Given the description of an element on the screen output the (x, y) to click on. 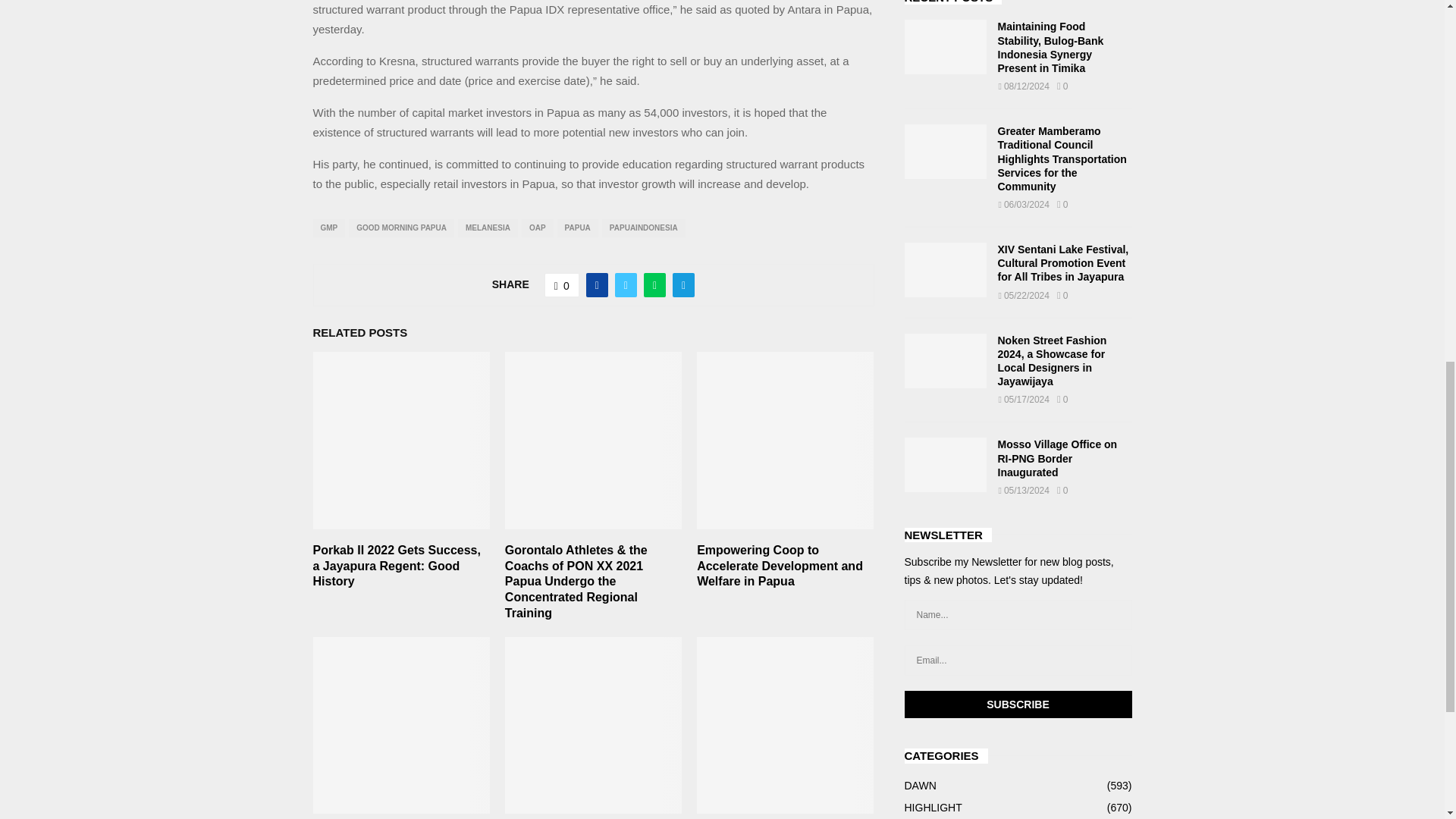
Porkab II 2022 Gets Success, a Jayapura Regent: Good History (396, 565)
GOOD MORNING PAPUA (401, 228)
PAPUAINDONESIA (643, 228)
GMP (329, 228)
PAPUA (577, 228)
